Given the description of an element on the screen output the (x, y) to click on. 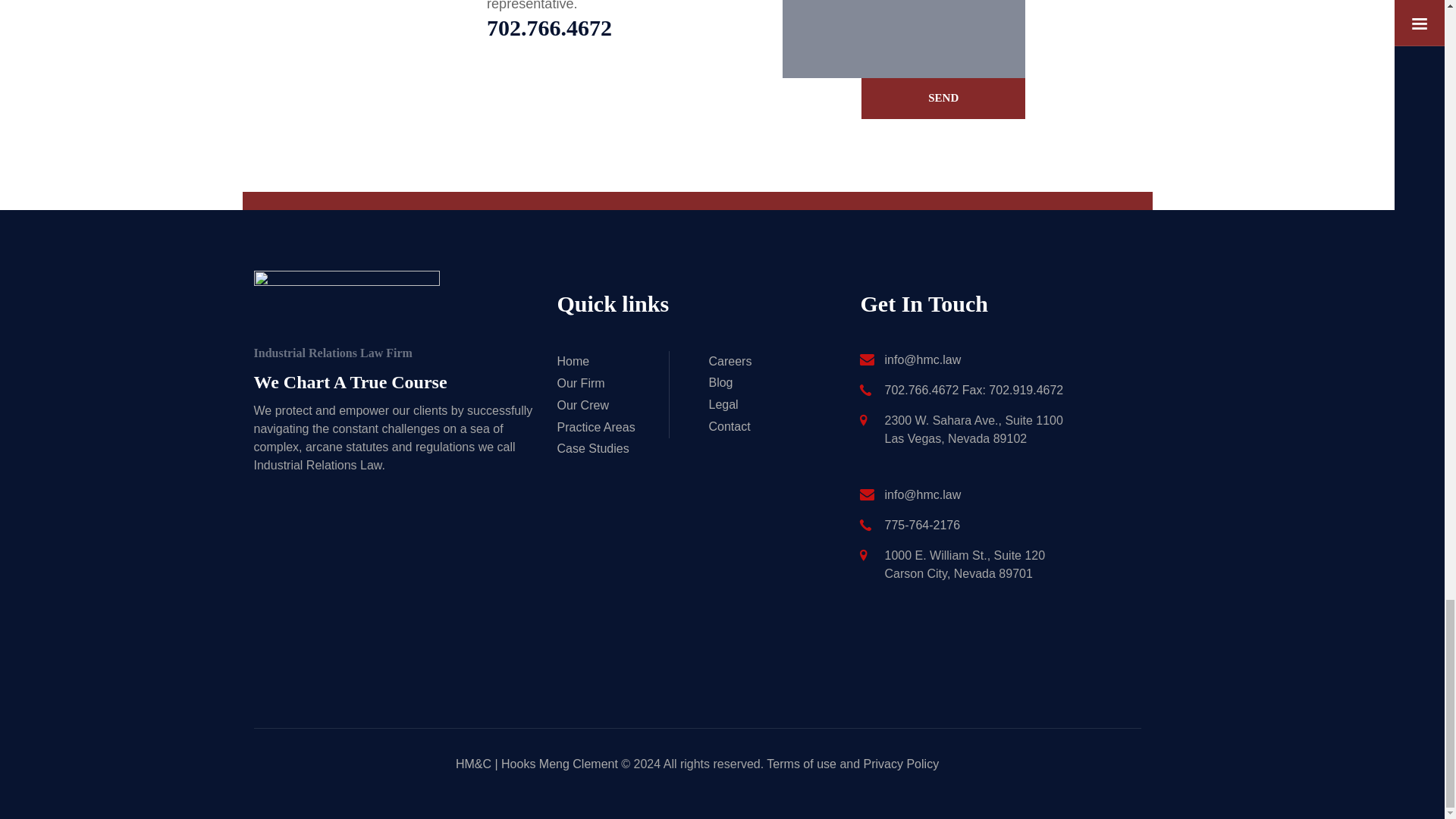
702.766.4673 (623, 27)
hmc-h-white-f-logo (346, 307)
Send (943, 97)
